Given the description of an element on the screen output the (x, y) to click on. 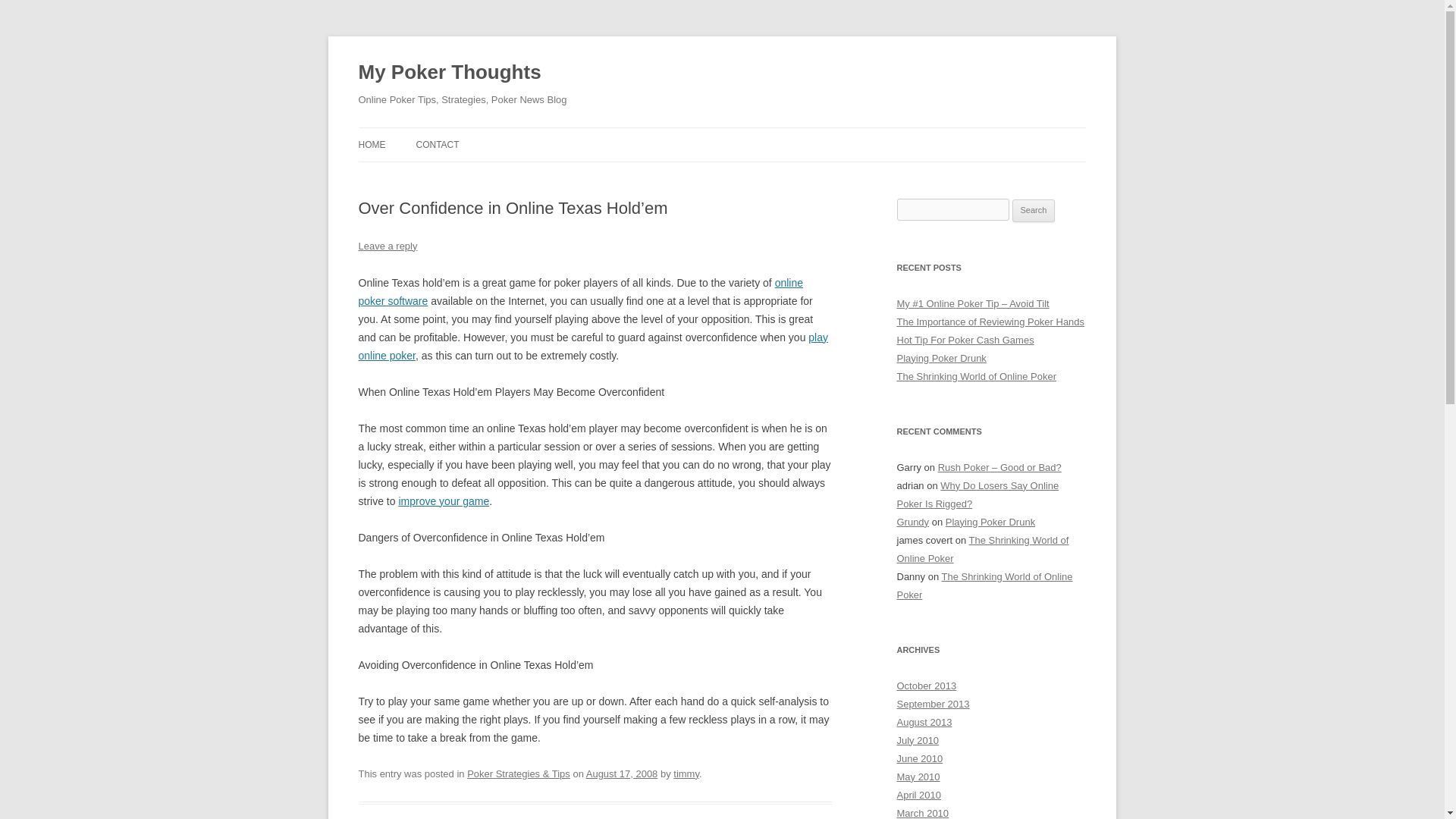
August 17, 2008 (622, 773)
September 2013 (932, 704)
improve your game (443, 500)
online poker software (580, 291)
View all posts by timmy (685, 773)
7:36 pm (622, 773)
The Importance of Reviewing Poker Hands (990, 321)
Search (1033, 210)
May 2010 (917, 776)
Leave a reply (387, 245)
